Given the description of an element on the screen output the (x, y) to click on. 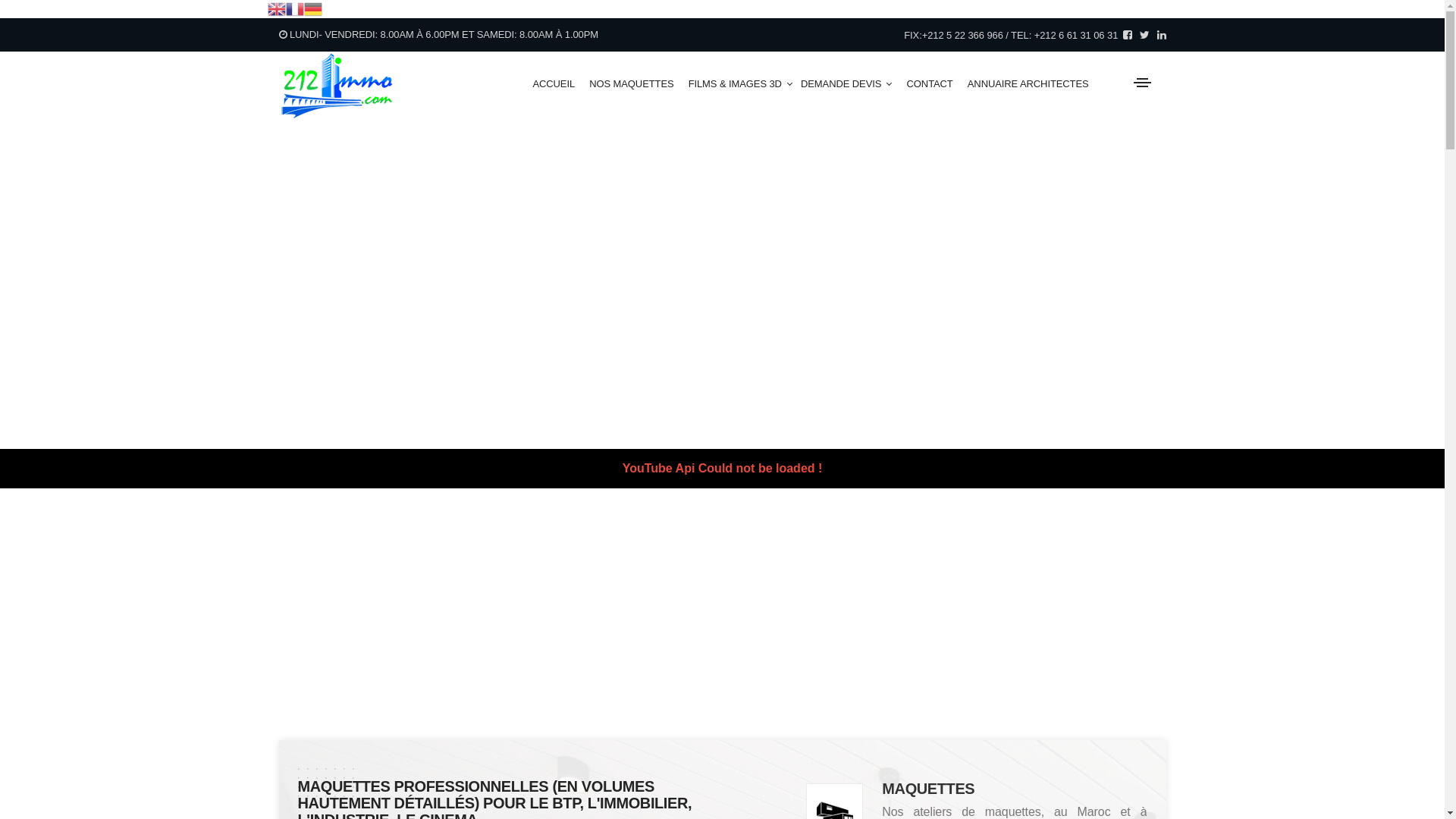
MAQUETTES Element type: text (927, 788)
Showreel Element type: text (997, 696)
NOS MAQUETTES Element type: text (636, 84)
FILMS & IMAGES 3D Element type: text (740, 84)
Contactez-nous Element type: text (1014, 756)
German Element type: hover (312, 9)
ACCUEIL Element type: text (559, 84)
French Element type: hover (294, 9)
Films & images 3D Element type: text (1022, 605)
English Element type: hover (275, 9)
Maquette Orbitale Element type: text (1019, 635)
Nos maquettes Element type: text (1012, 574)
DEMANDE DEVIS Element type: text (846, 84)
  CONTACT Element type: text (931, 84)
+212 661 310 631 Element type: text (876, 689)
+212 522 366 966 Element type: text (841, 658)
+212 522 397 657 Element type: text (845, 674)
3179922423@qq.com Element type: text (352, 752)
commercial@212-immo.com Element type: text (840, 623)
ANNUAIRE ARCHITECTES Element type: text (1039, 84)
Demande Devis Element type: text (1014, 726)
Annuaire architectes Element type: text (1026, 665)
